Given the description of an element on the screen output the (x, y) to click on. 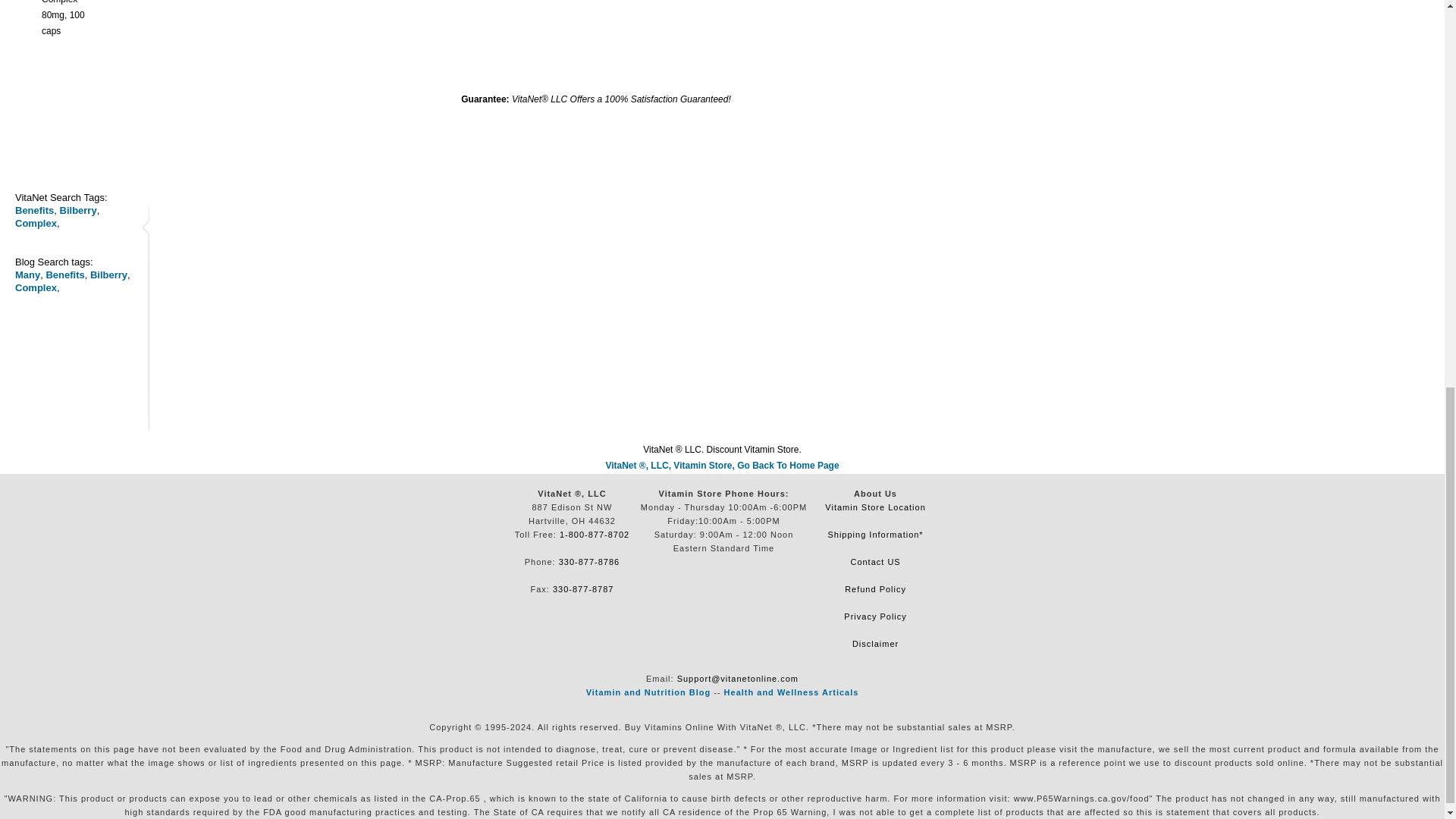
Search Forums for: Bilberry (109, 274)
Search Forums for: Benefits (64, 274)
vitanet vitamin store (721, 465)
Search Forums for: Many (27, 274)
Search Forums for: Complex (35, 287)
Search for: Bilberry (78, 210)
Search for: Benefits (33, 210)
Search for: Complex (35, 223)
